Given the description of an element on the screen output the (x, y) to click on. 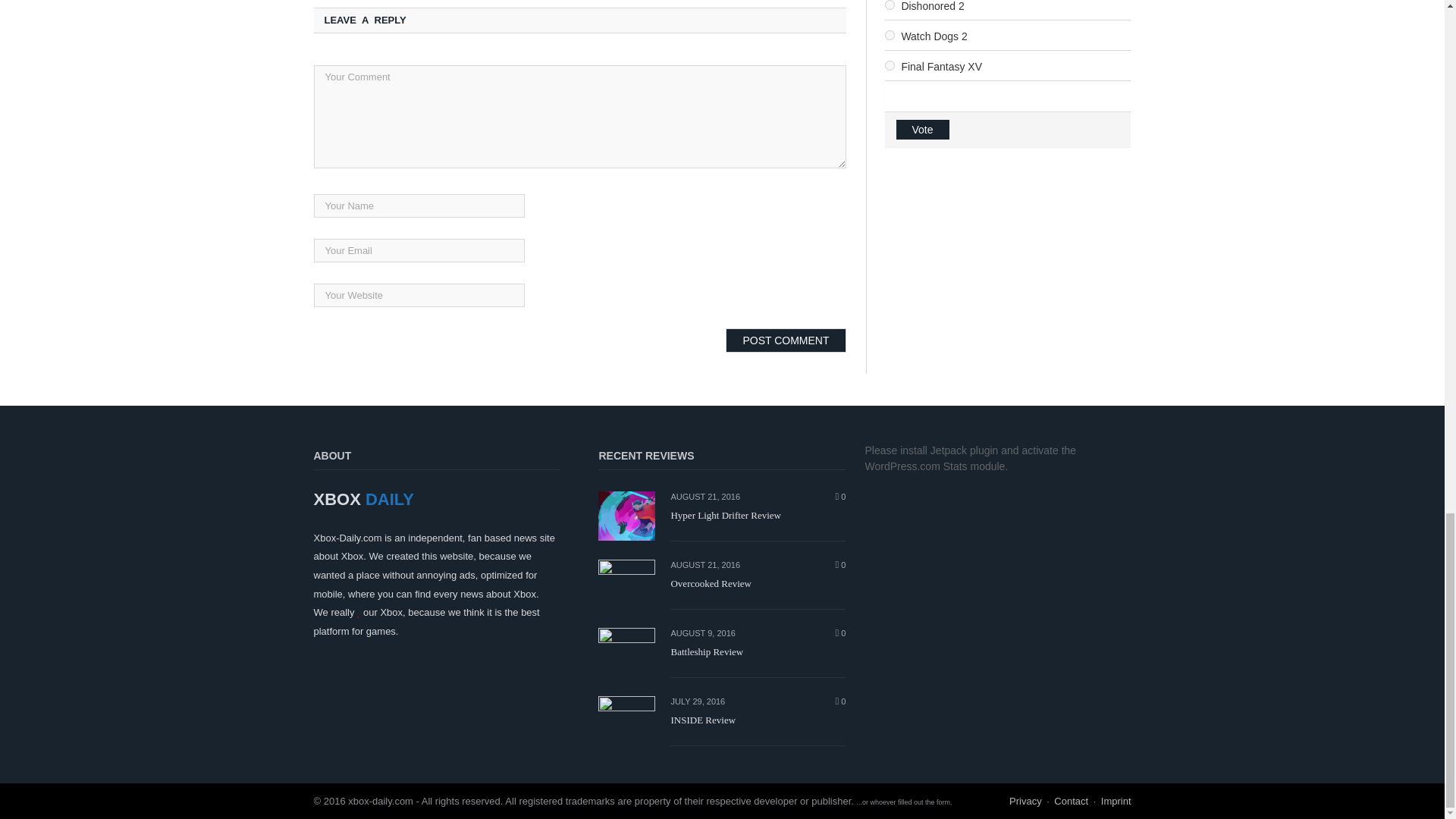
948 (888, 65)
Post Comment (785, 339)
Post Comment (785, 339)
947 (888, 35)
946 (888, 4)
